Given the description of an element on the screen output the (x, y) to click on. 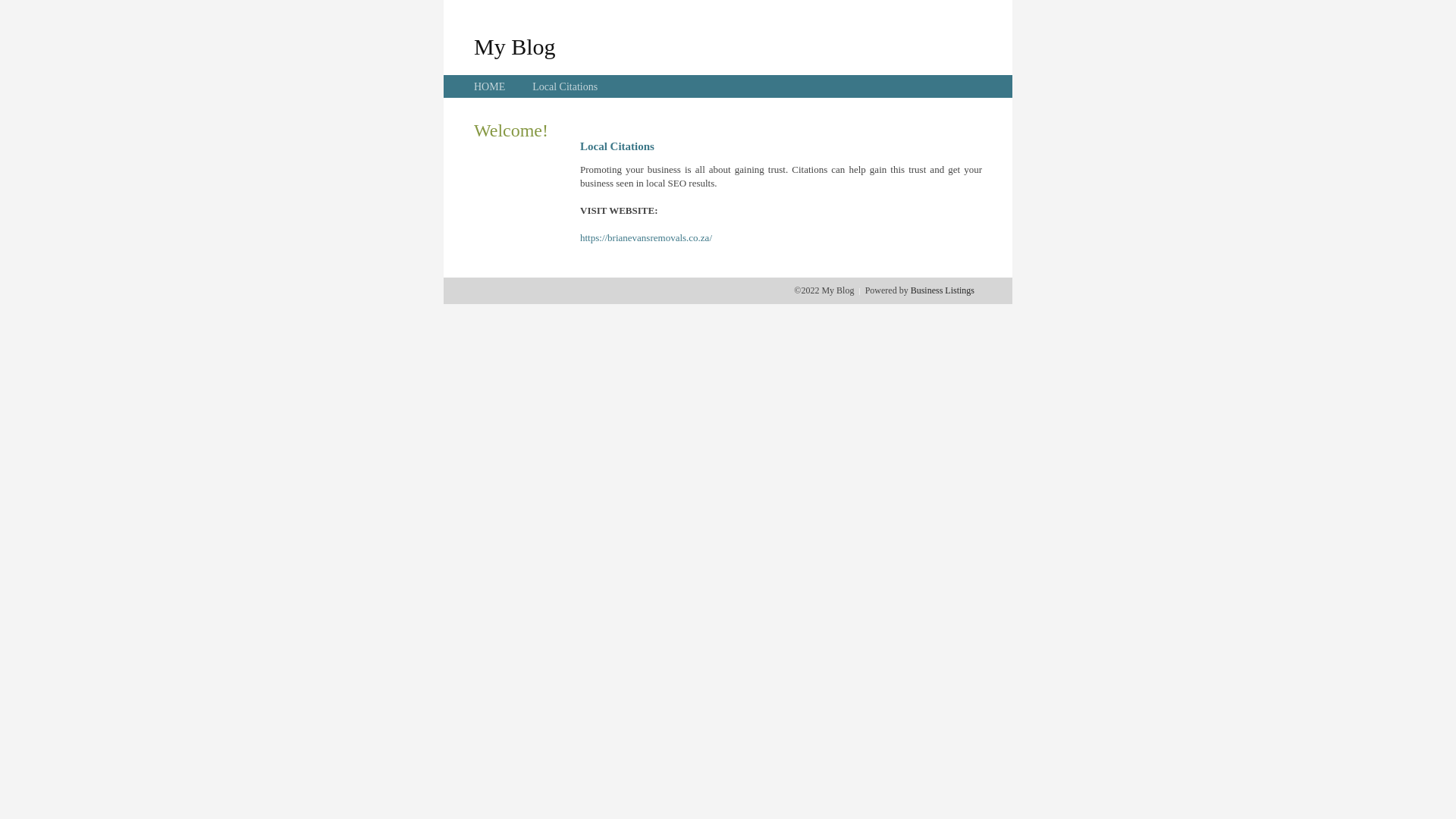
Business Listings Element type: text (942, 290)
My Blog Element type: text (514, 46)
Local Citations Element type: text (564, 86)
https://brianevansremovals.co.za/ Element type: text (646, 237)
HOME Element type: text (489, 86)
